Given the description of an element on the screen output the (x, y) to click on. 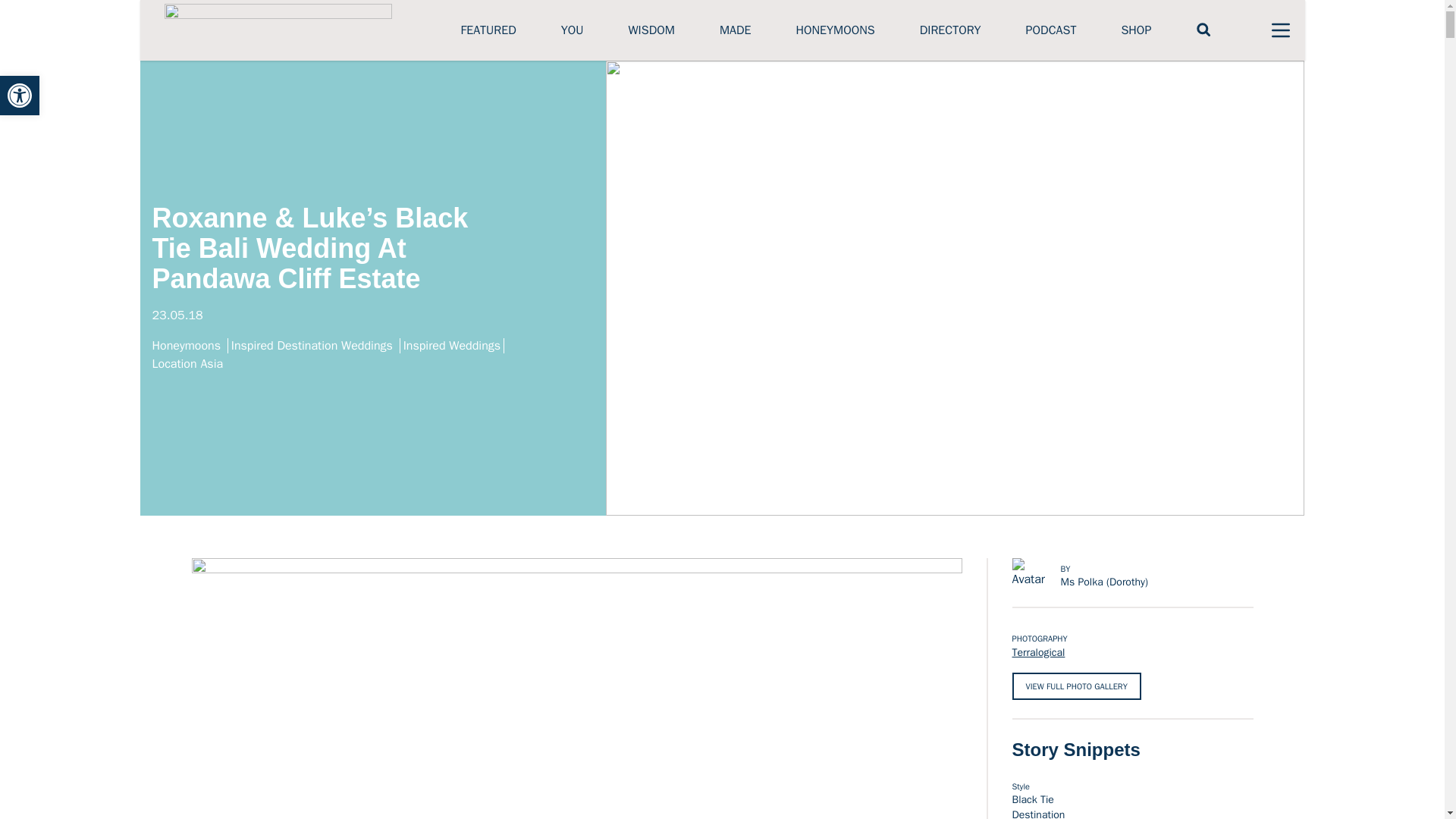
Inspired Weddings (453, 345)
DIRECTORY (950, 29)
PODCAST (1051, 29)
FEATURED (488, 29)
Inspired Destination Weddings (315, 345)
WISDOM (650, 29)
SHOP (1136, 29)
HONEYMOONS (834, 29)
Honeymoons (189, 345)
YOU (571, 29)
